Given the description of an element on the screen output the (x, y) to click on. 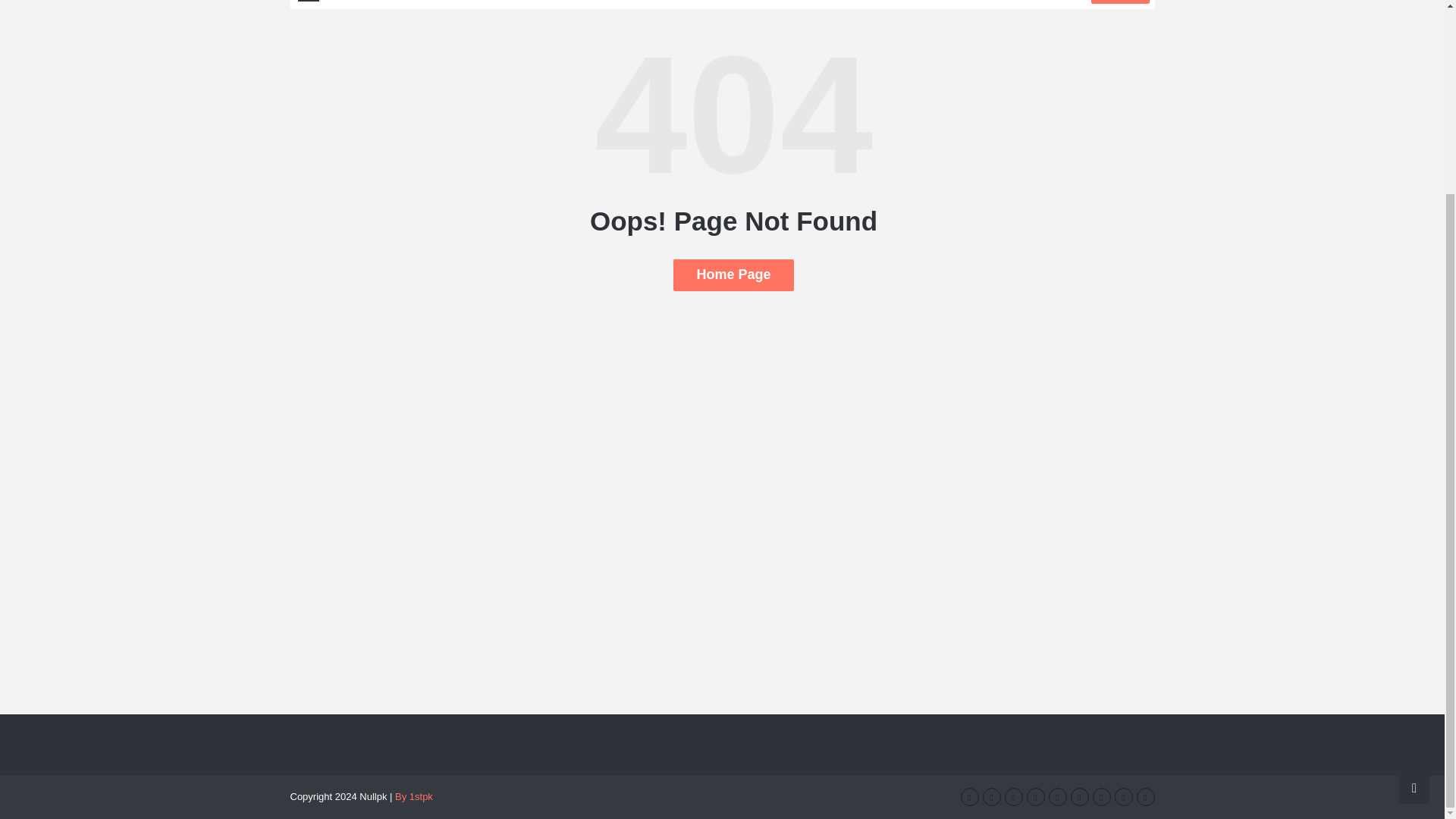
Ask a question (1414, 544)
